Given the description of an element on the screen output the (x, y) to click on. 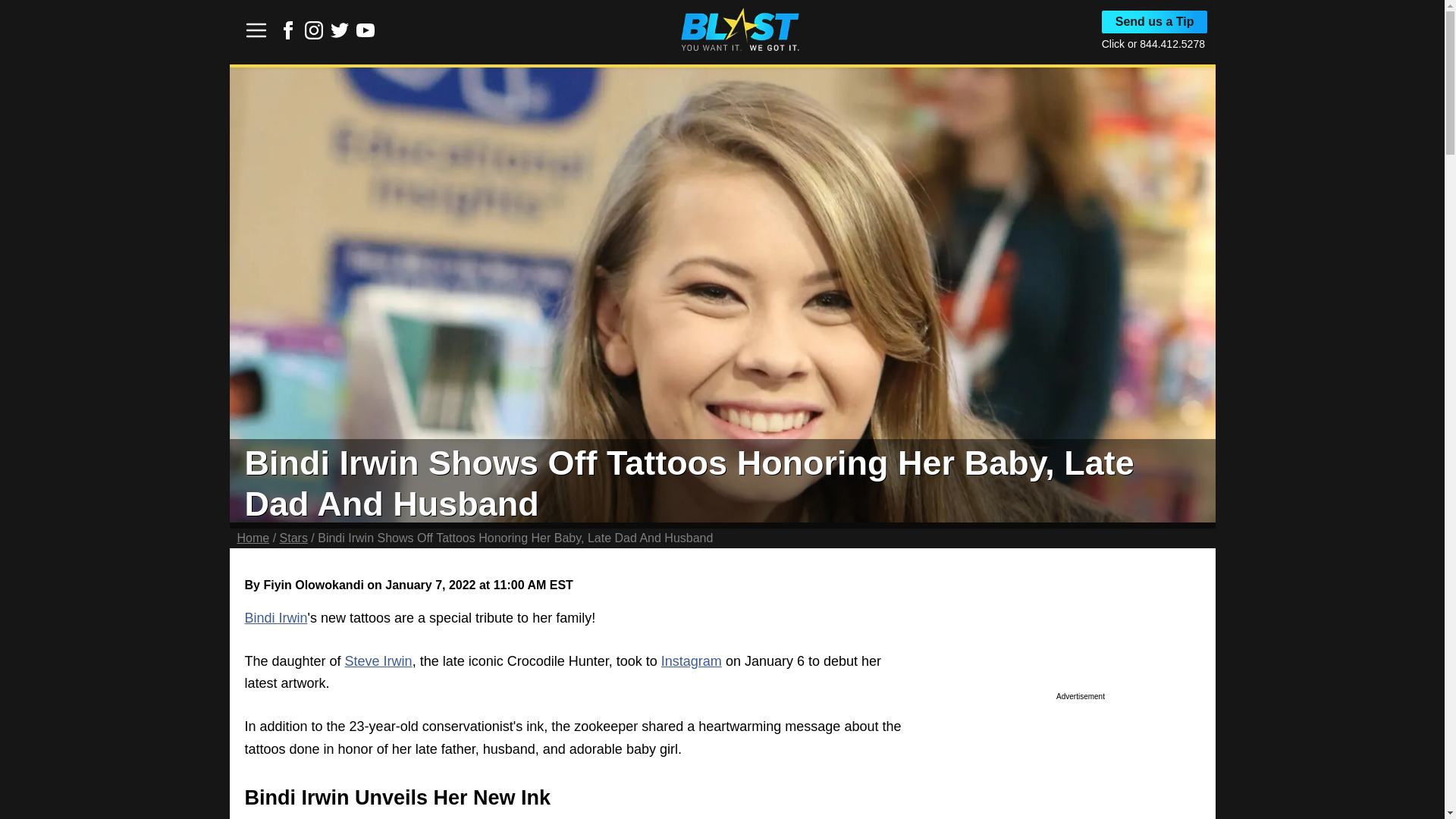
Link to Twitter (339, 30)
Fiyin Olowokandi (312, 584)
Link to Twitter (339, 34)
Link to Facebook (288, 30)
Send us a Tip (1155, 21)
Link to Instagram (313, 30)
Link to Facebook (288, 34)
Bindi Irwin (275, 617)
Click or 844.412.5278 (1153, 43)
Link to Instagram (313, 34)
